Given the description of an element on the screen output the (x, y) to click on. 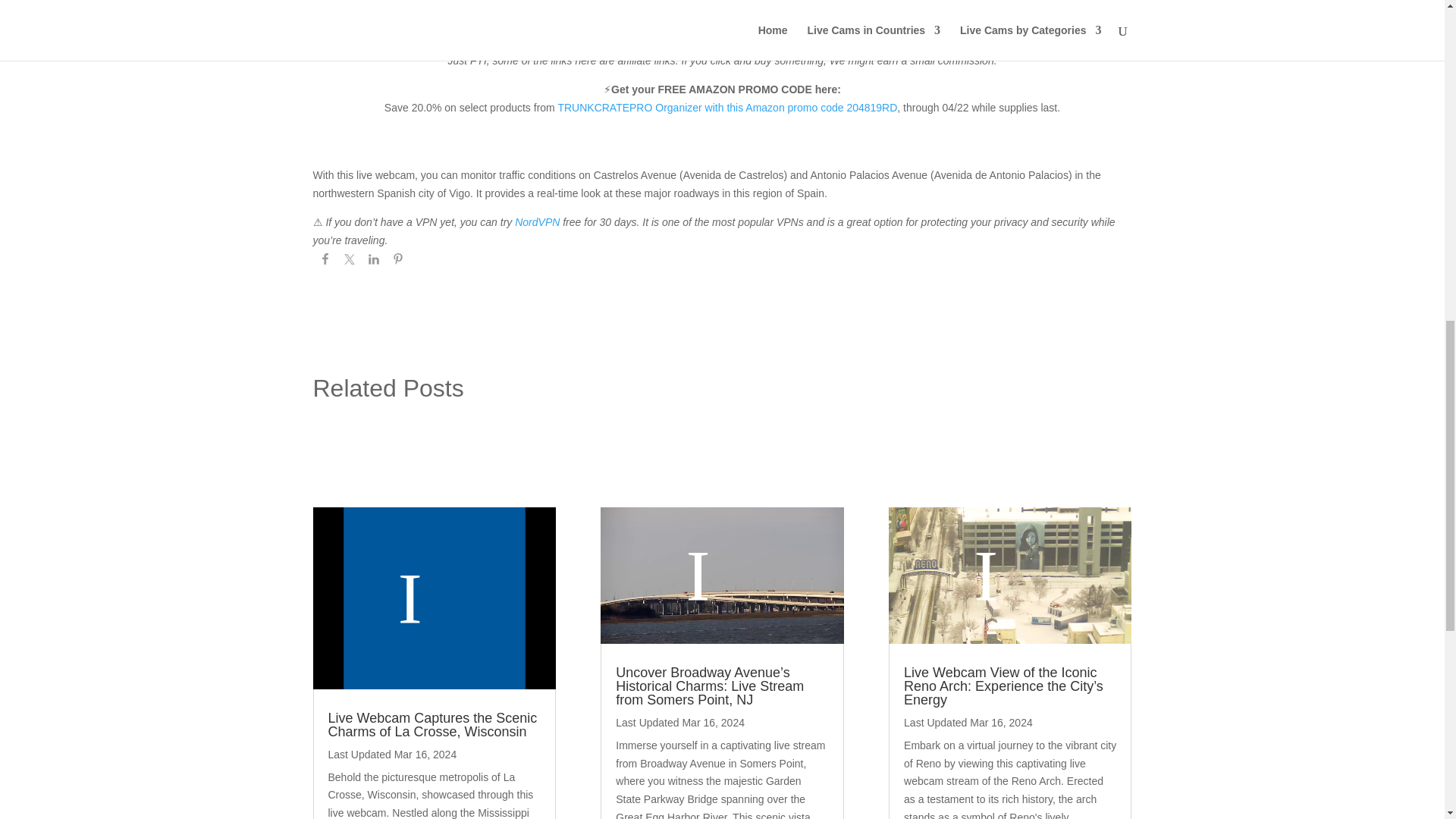
Share on Pinterest (397, 261)
Gardens State Parkway Bridge over the Egg Harbor River (721, 574)
Share on Facebook (324, 261)
Share on LinkedIn (373, 261)
Share on Twitter (348, 261)
News 8 Now City Cam Live Stream (433, 597)
Av.Castrelos - Palacios (722, 14)
